Given the description of an element on the screen output the (x, y) to click on. 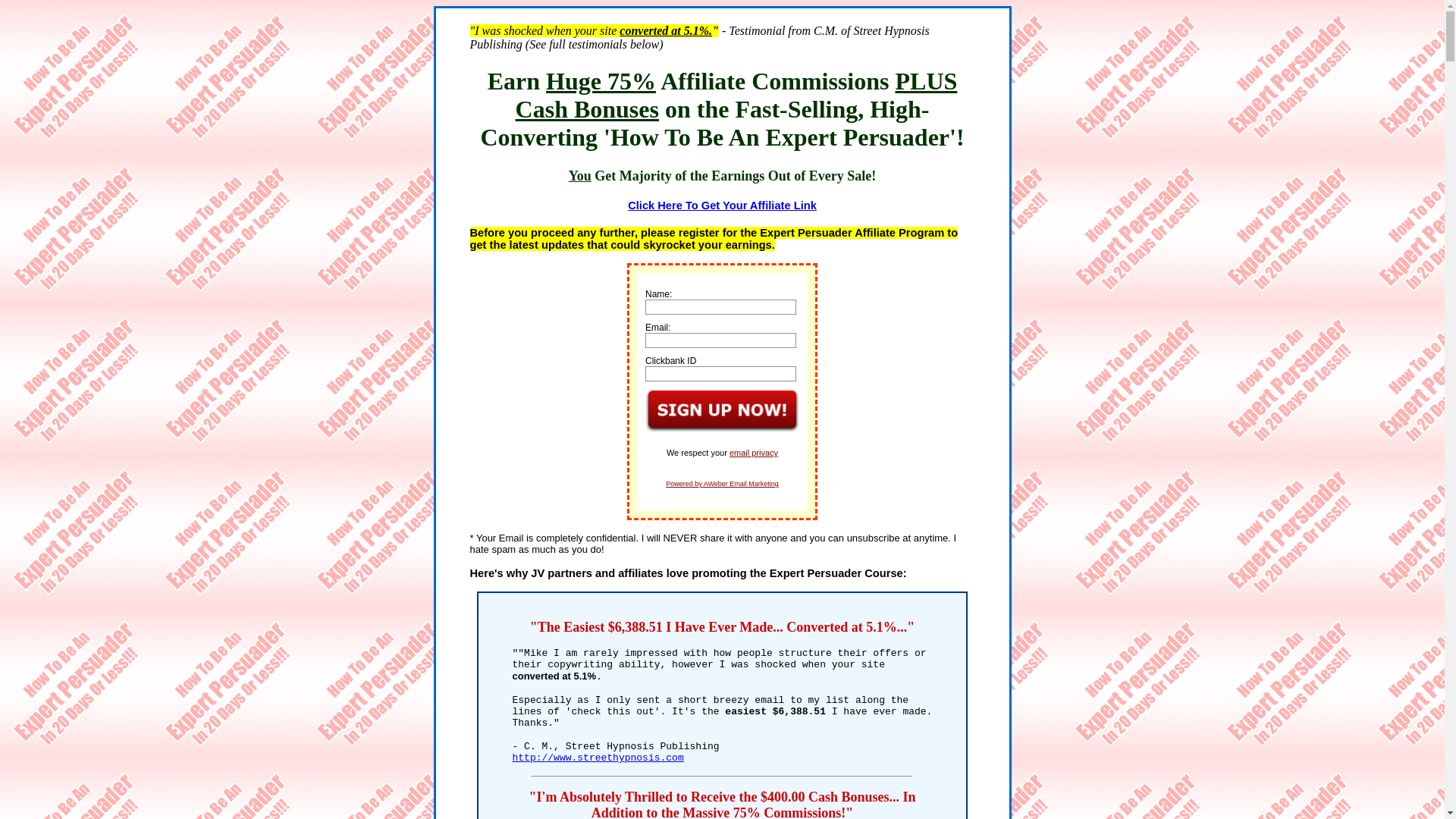
http://www.streethypnosis.com Element type: text (597, 757)
Click Here To Get Your Affiliate Link Element type: text (721, 205)
email privacy Element type: text (753, 452)
Powered by AWeber Email Marketing Element type: text (721, 483)
